Given the description of an element on the screen output the (x, y) to click on. 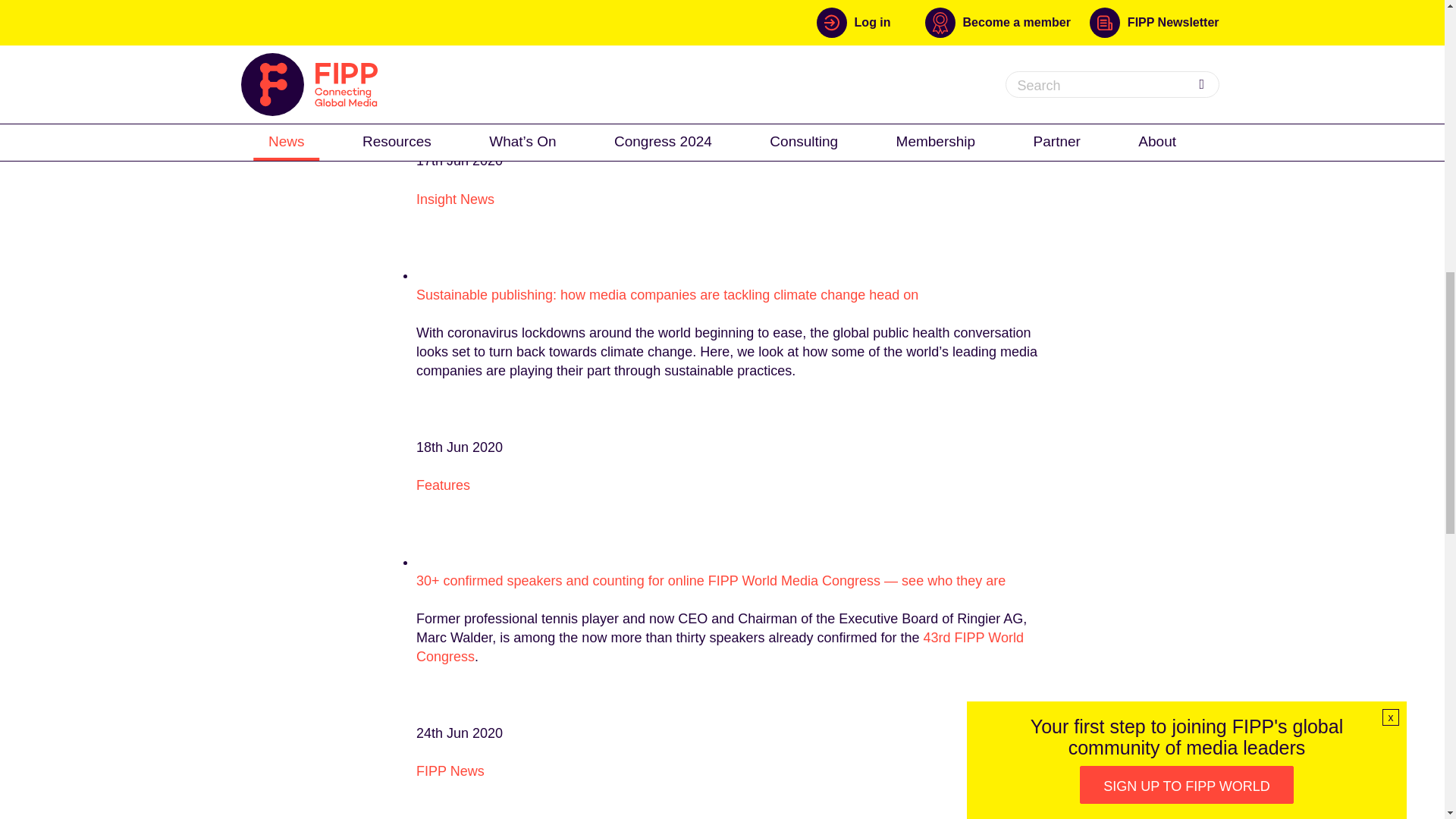
43rd FIPP World Congress (719, 646)
June 2020 update: Publishing in the times of pandemic (582, 7)
Features (443, 485)
FIPP News (450, 770)
Insight News (455, 199)
